Given the description of an element on the screen output the (x, y) to click on. 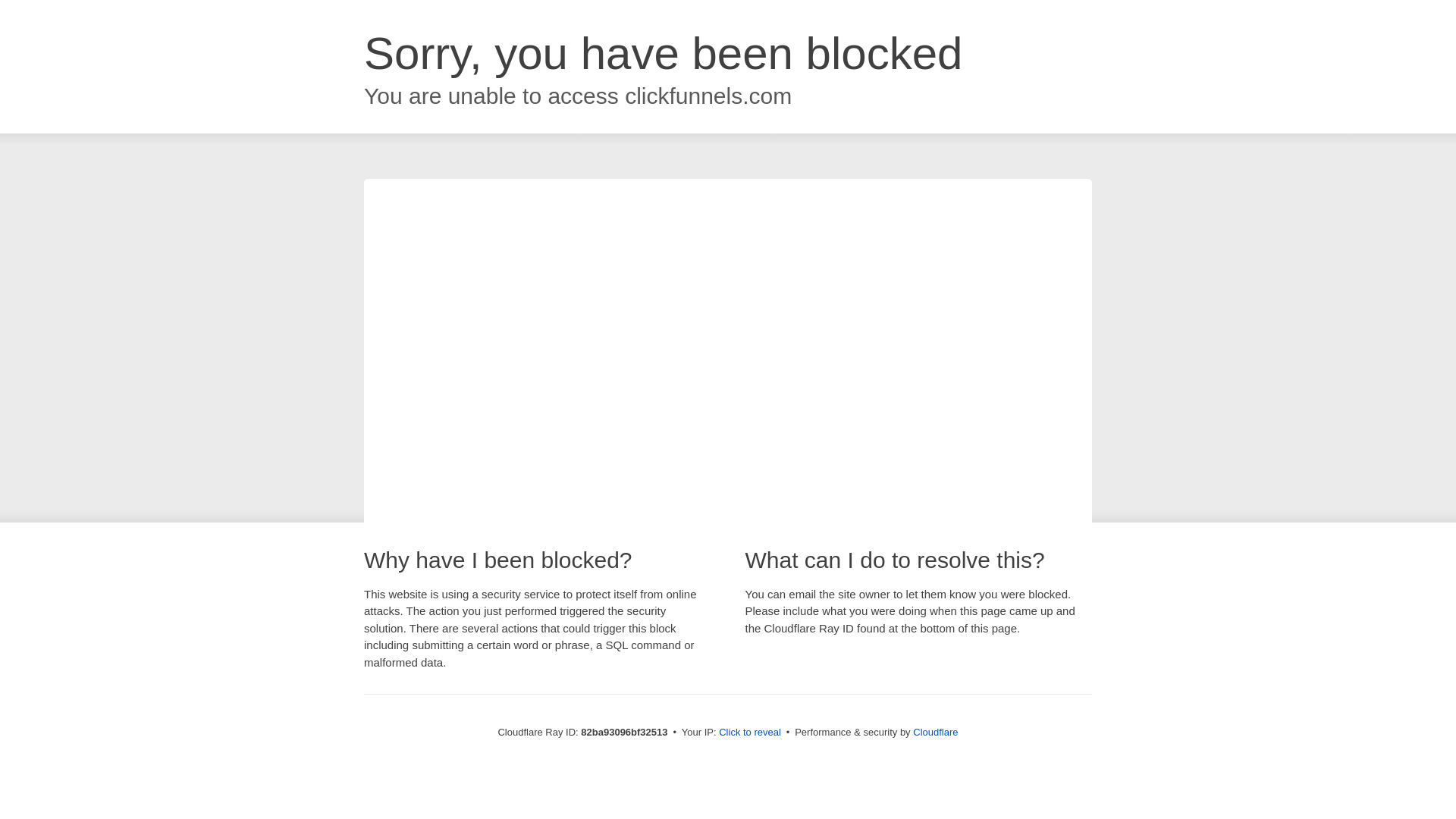
Cloudflare Element type: text (935, 731)
Click to reveal Element type: text (749, 732)
